Given the description of an element on the screen output the (x, y) to click on. 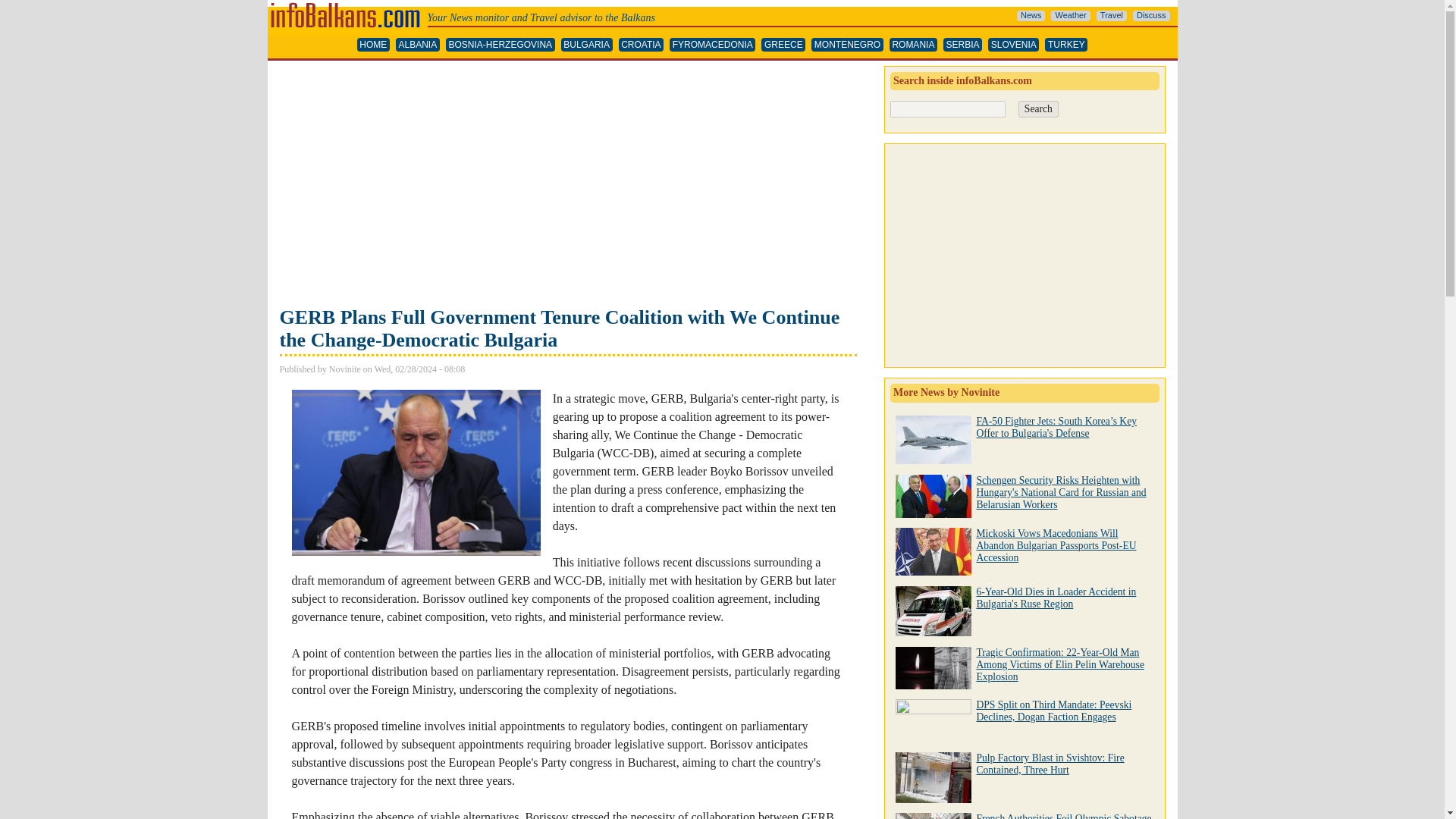
Travel (1111, 15)
SLOVENIA (1013, 44)
ALBANIA (417, 44)
SERBIA (962, 44)
FYROMACEDONIA (712, 44)
BULGARIA (586, 44)
ROMANIA (913, 44)
CROATIA (640, 44)
Discuss (1151, 15)
Home (346, 6)
News (1030, 15)
Search (1037, 108)
Enter the terms you wish to search for. (947, 108)
TURKEY (1066, 44)
